Given the description of an element on the screen output the (x, y) to click on. 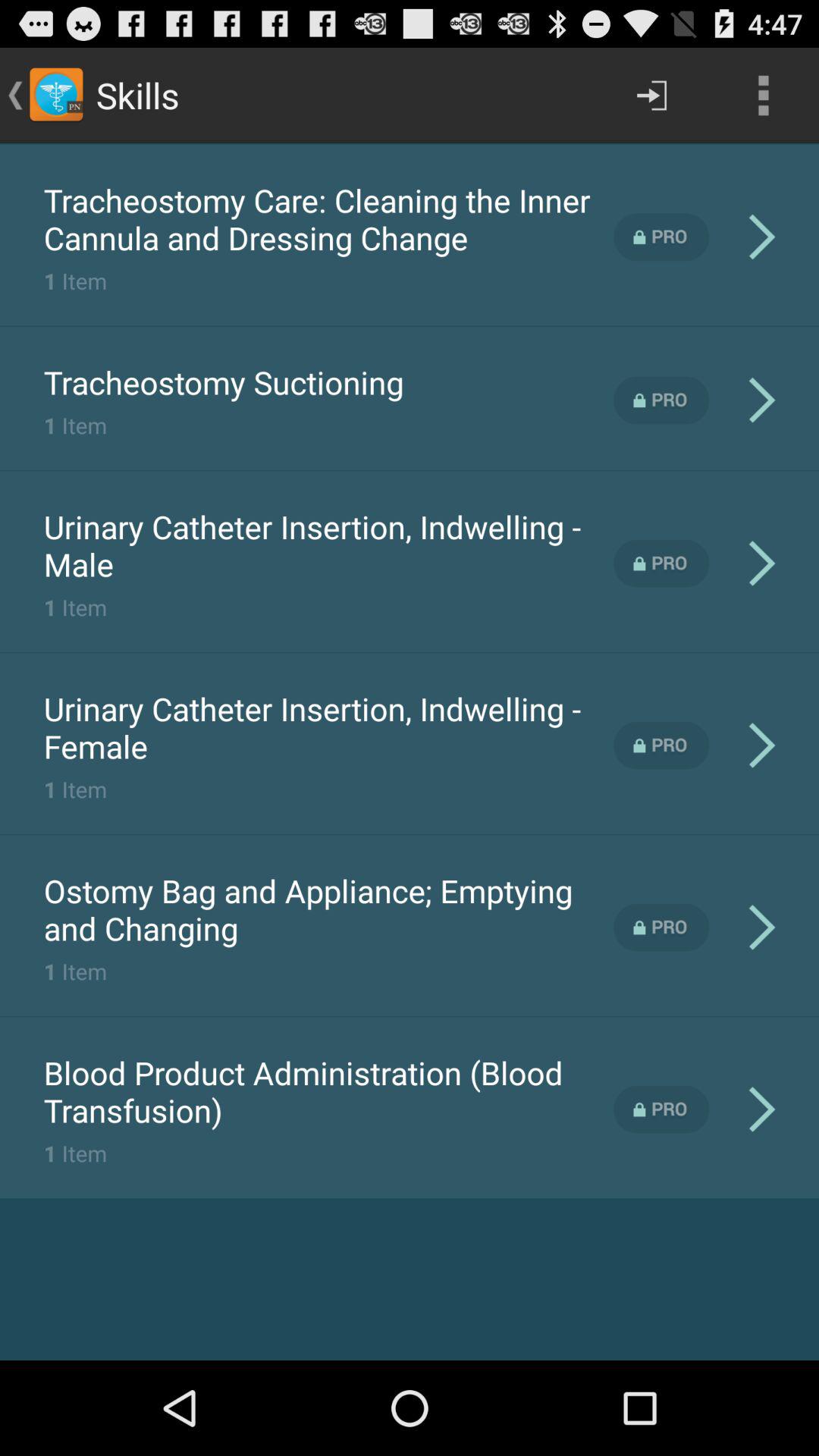
unlock pro content (661, 1109)
